Given the description of an element on the screen output the (x, y) to click on. 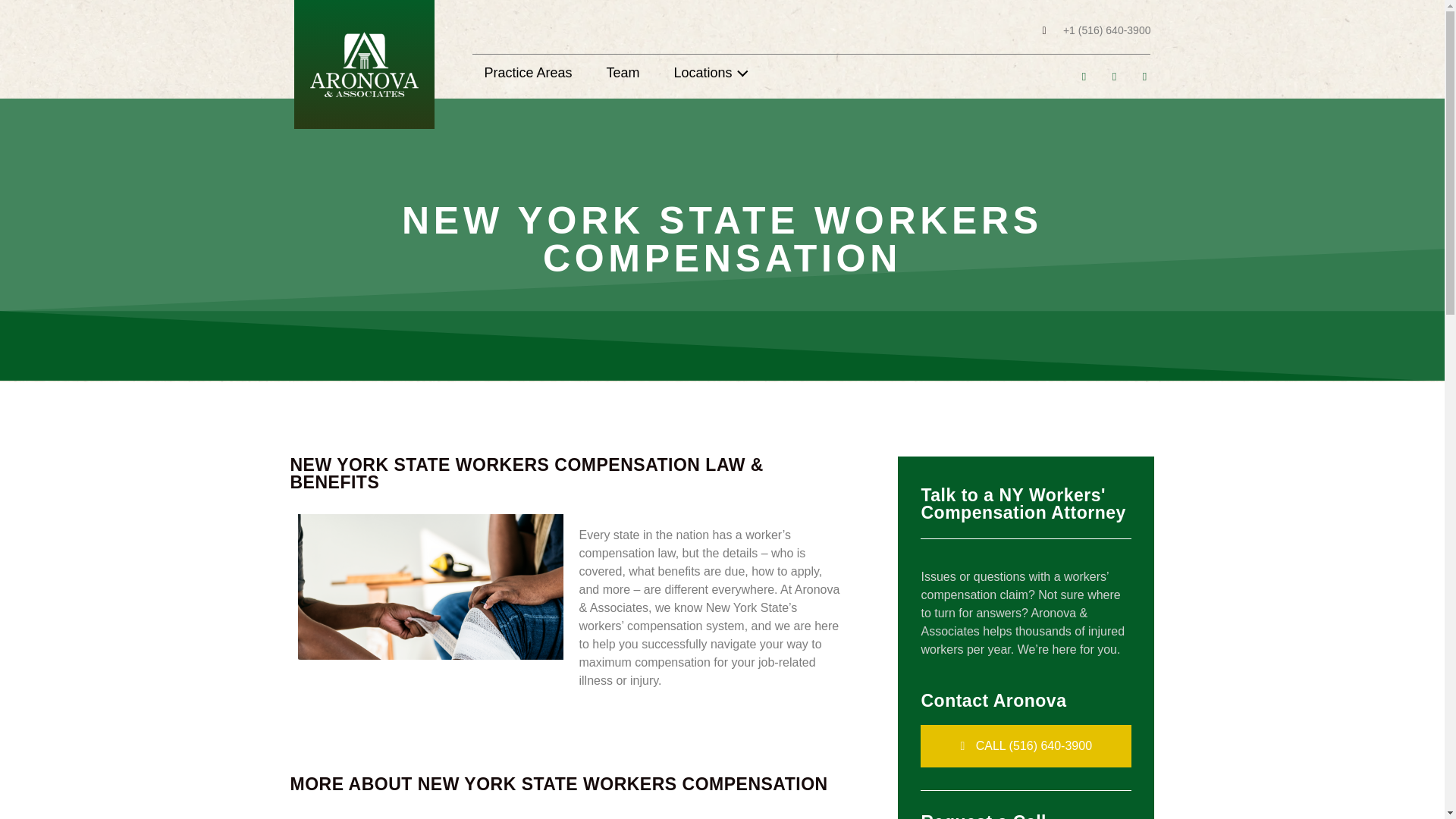
Practice Areas (527, 72)
Locations (714, 72)
SEND MESSAGE (722, 557)
Team (622, 72)
